Given the description of an element on the screen output the (x, y) to click on. 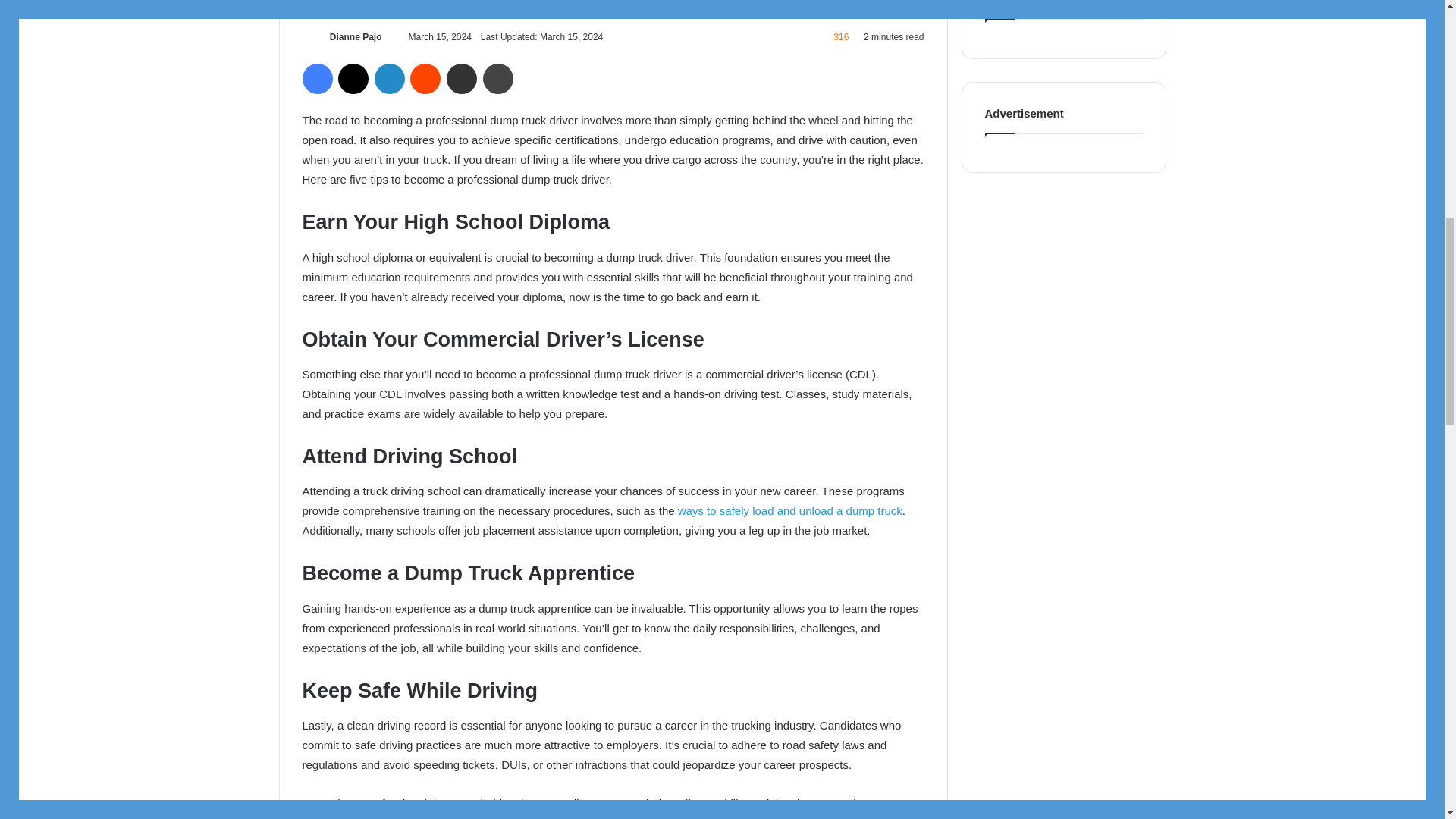
Facebook (316, 78)
Reddit (425, 78)
LinkedIn (389, 78)
X (352, 78)
Reddit (425, 78)
Facebook (316, 78)
Print (498, 78)
LinkedIn (389, 78)
Dianne Pajo (355, 36)
Share via Email (461, 78)
